Given the description of an element on the screen output the (x, y) to click on. 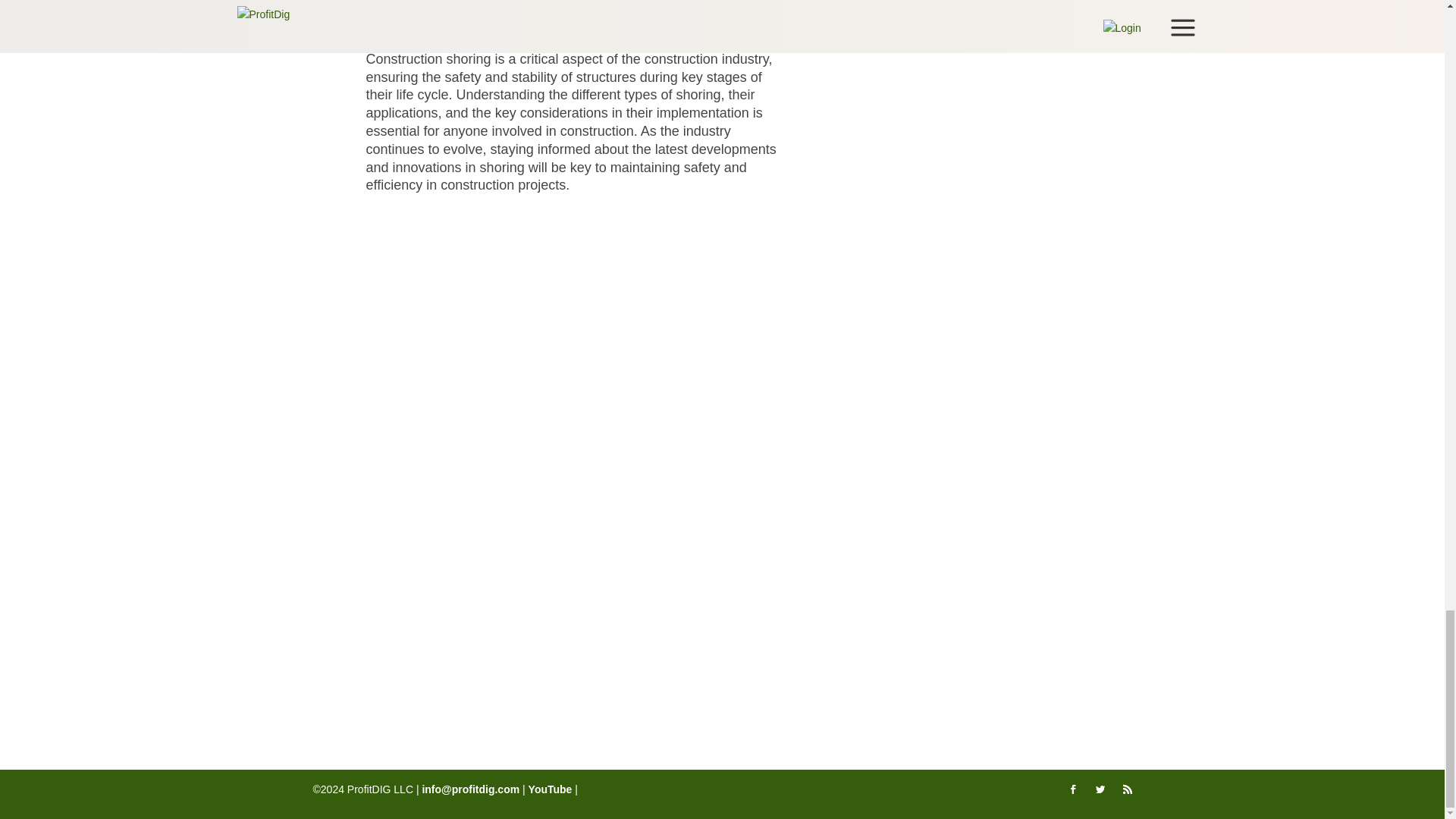
Culverts in Construction: An Essential Guide (499, 325)
